Given the description of an element on the screen output the (x, y) to click on. 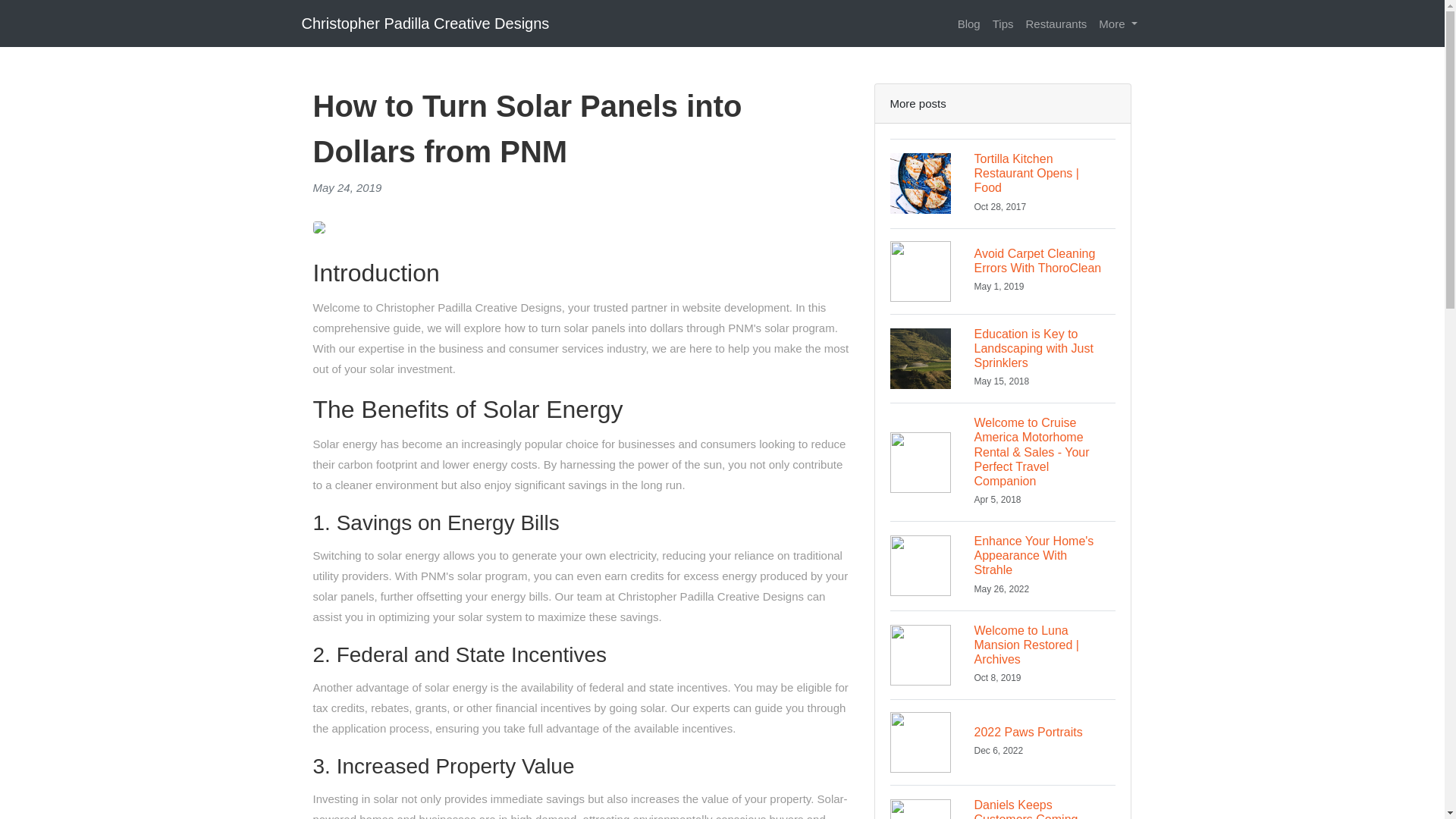
Tips (1003, 23)
Blog (969, 23)
Christopher Padilla Creative Designs (425, 22)
Restaurants (1056, 23)
More (1002, 741)
